Given the description of an element on the screen output the (x, y) to click on. 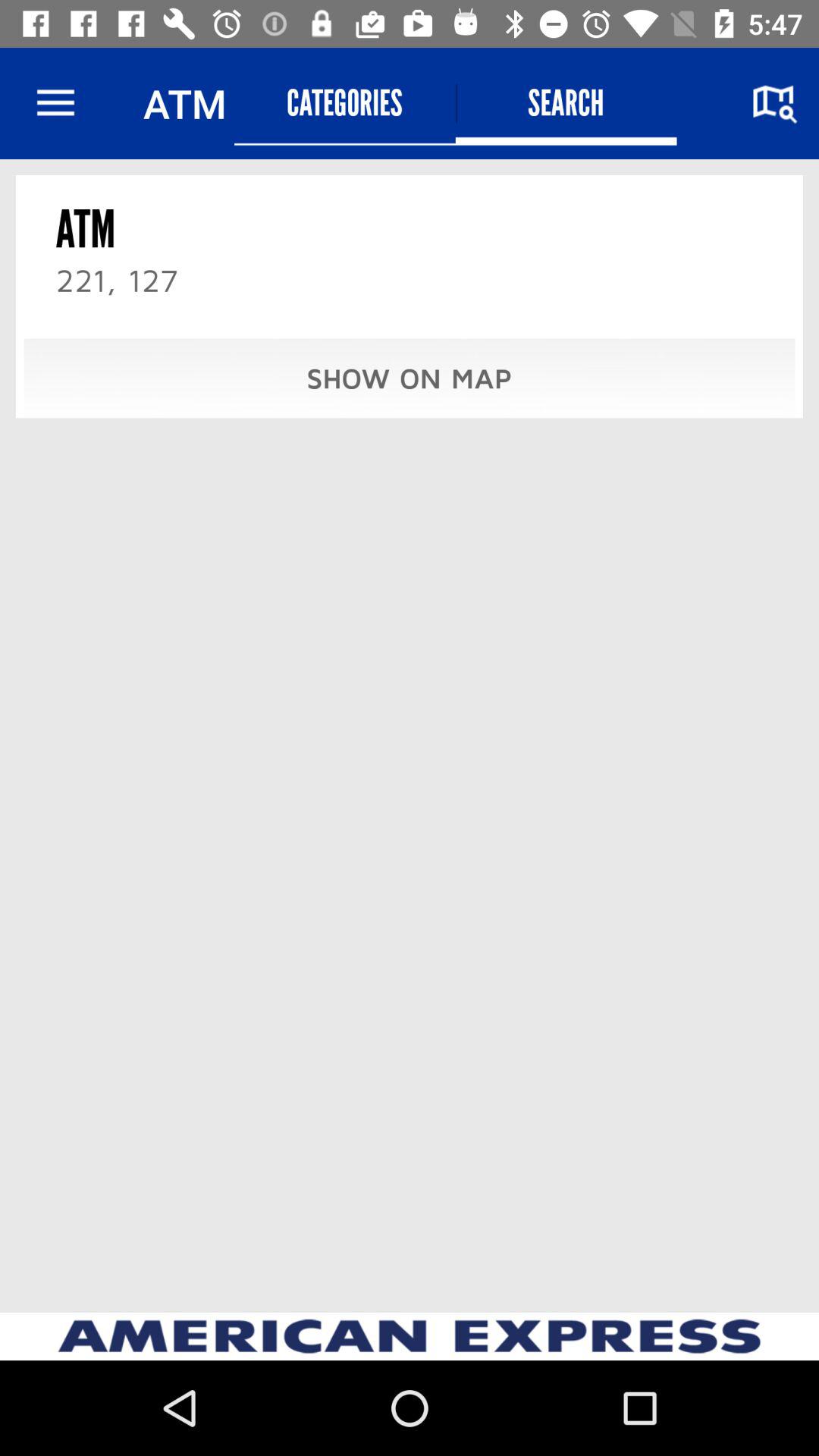
turn off icon to the left of atm (55, 103)
